Given the description of an element on the screen output the (x, y) to click on. 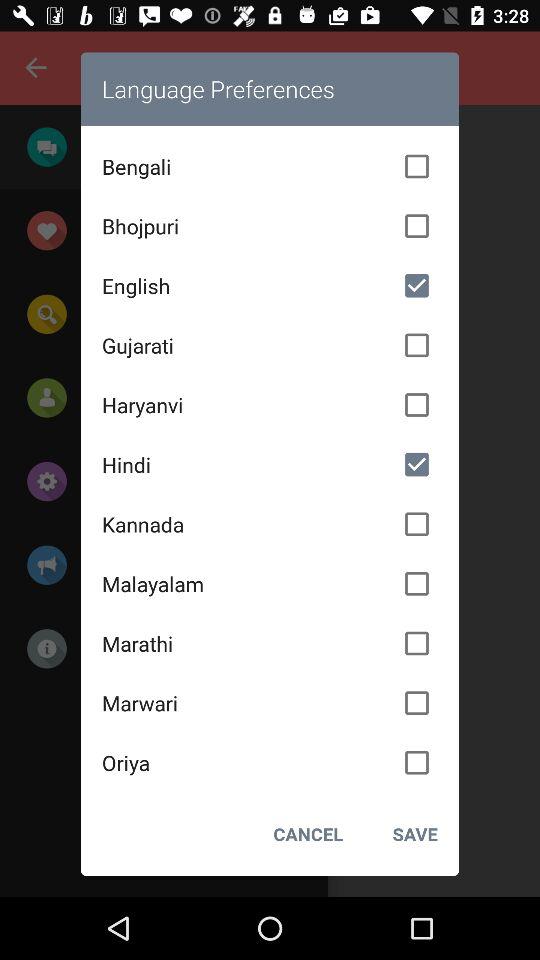
press the item above marwari item (270, 643)
